Given the description of an element on the screen output the (x, y) to click on. 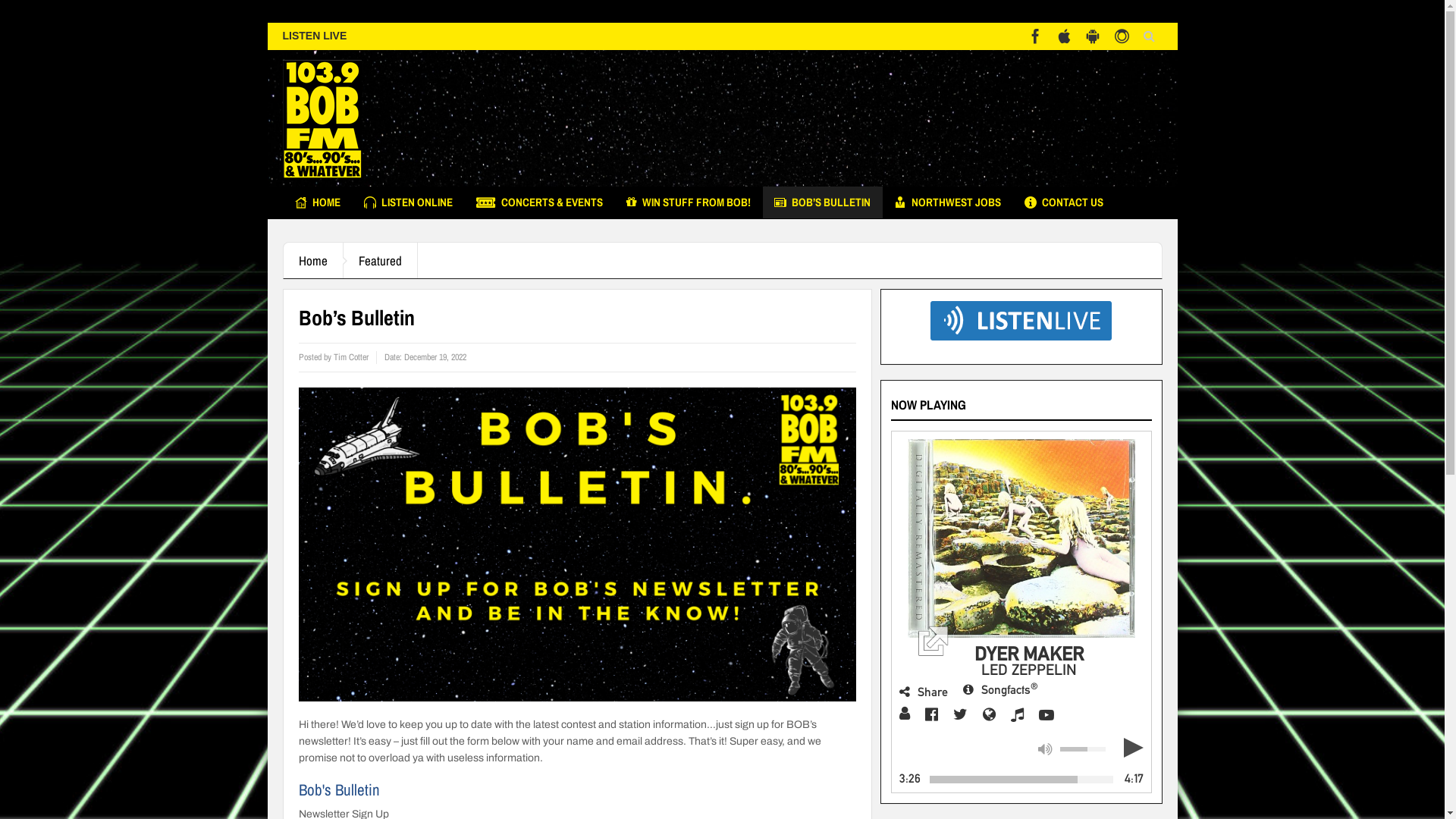
Artist Bio Element type: hover (904, 713)
Tim Cotter Element type: text (350, 357)
LISTEN ONLINE Element type: text (407, 202)
Discography Element type: hover (1016, 713)
Twitter Element type: hover (960, 713)
Website Element type: hover (988, 713)
NORTHWEST JOBS Element type: text (947, 202)
Videos Element type: hover (1046, 714)
Advertisement Element type: hover (885, 121)
LISTEN LIVE Element type: text (314, 35)
HOME Element type: text (317, 202)
Expand Element type: hover (1021, 538)
WIN STUFF FROM BOB! Element type: text (687, 202)
Home Element type: text (313, 260)
Facebook Element type: hover (931, 713)
CONCERTS & EVENTS Element type: text (538, 202)
CONTACT US Element type: text (1063, 202)
Expand Element type: hover (1021, 552)
103.9 BOB FM Element type: hover (321, 118)
Featured Element type: text (379, 260)
